Given the description of an element on the screen output the (x, y) to click on. 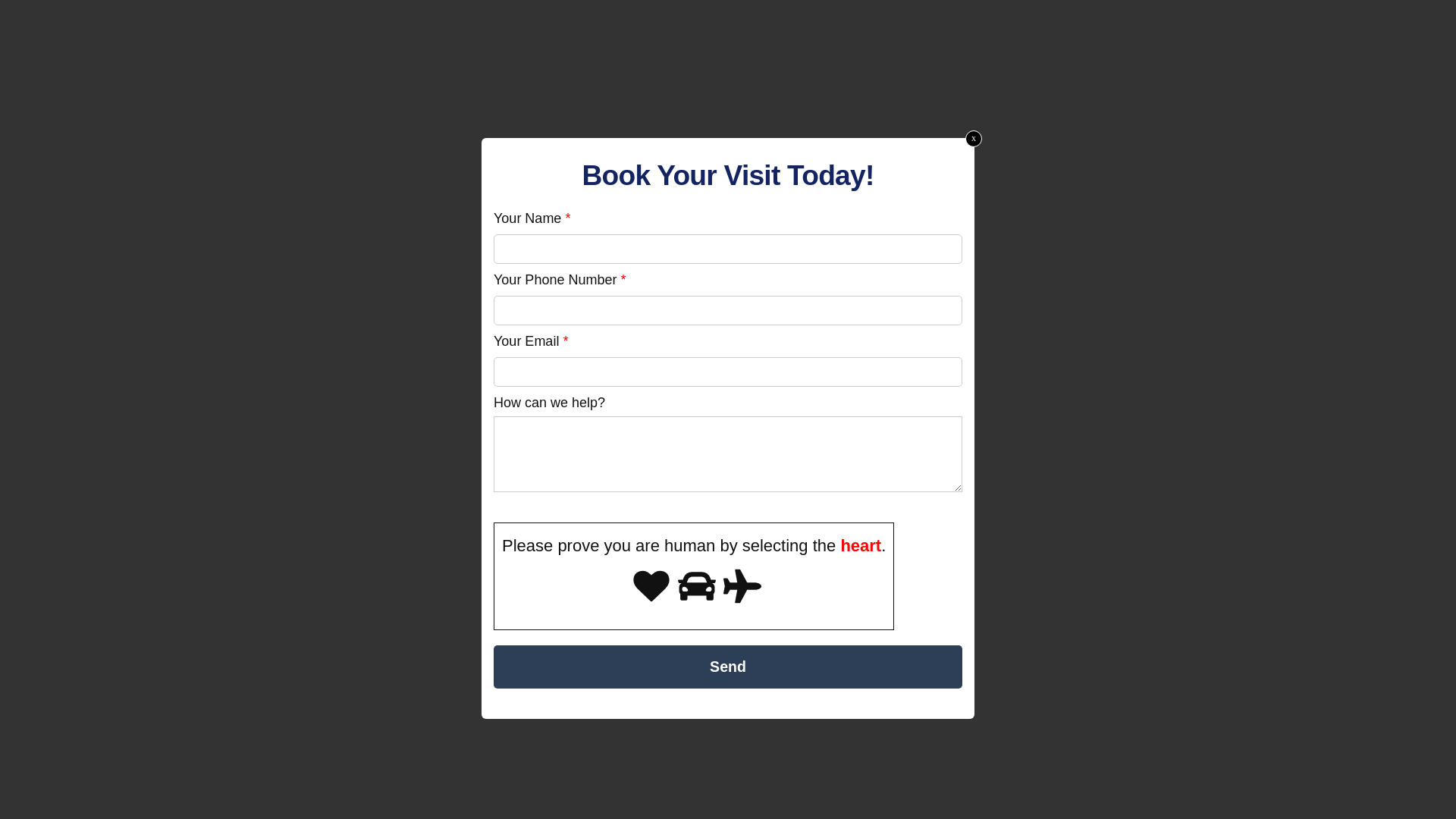
x Element type: text (973, 138)
Send Element type: text (727, 666)
